Given the description of an element on the screen output the (x, y) to click on. 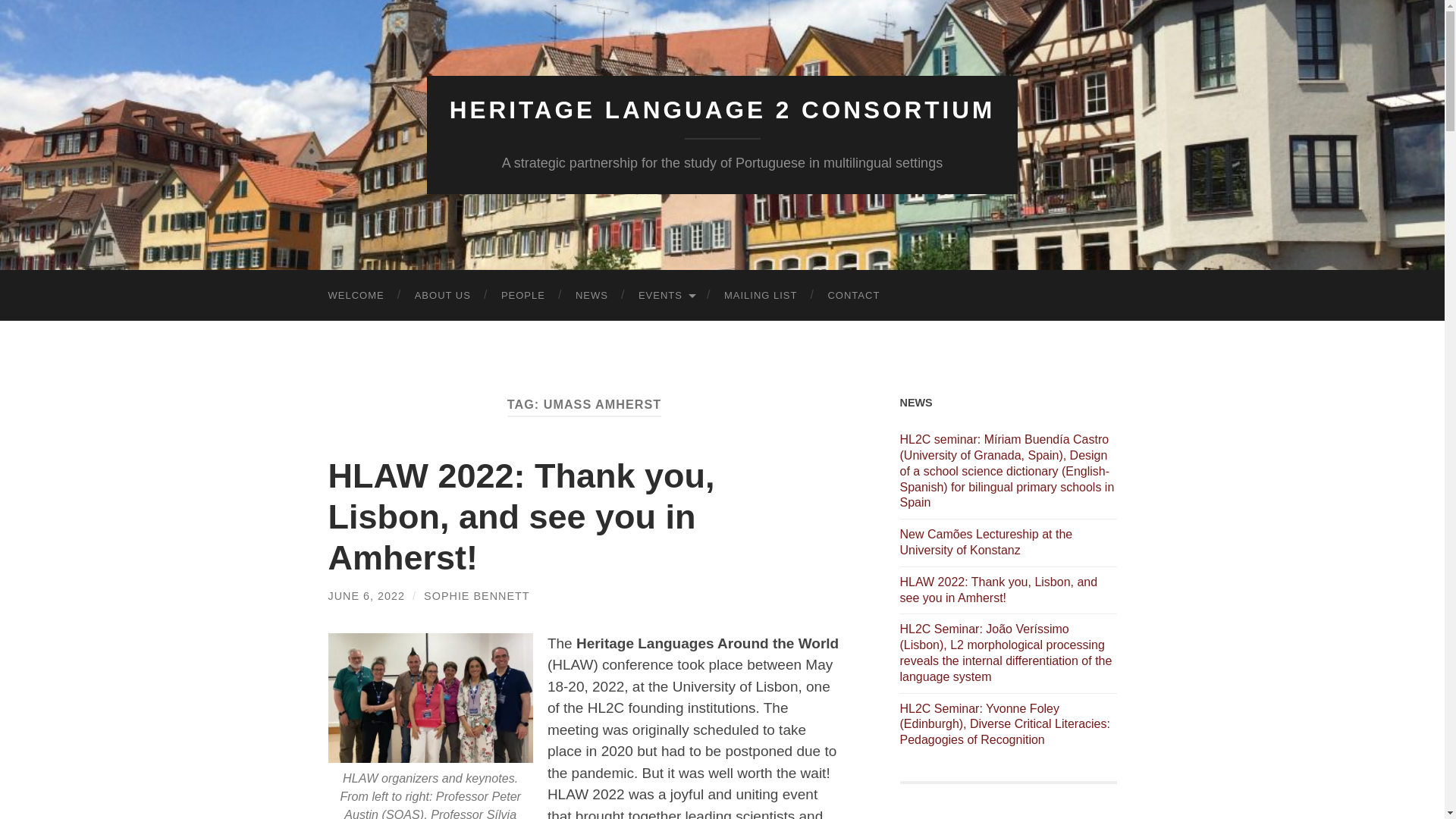
CONTACT (853, 295)
HLAW 2022: Thank you, Lisbon, and see you in Amherst! (520, 516)
MAILING LIST (760, 295)
WELCOME (355, 295)
NEWS (591, 295)
JUNE 6, 2022 (365, 595)
SOPHIE BENNETT (476, 595)
Posts by Sophie Bennett (476, 595)
ABOUT US (442, 295)
HERITAGE LANGUAGE 2 CONSORTIUM (722, 109)
